Given the description of an element on the screen output the (x, y) to click on. 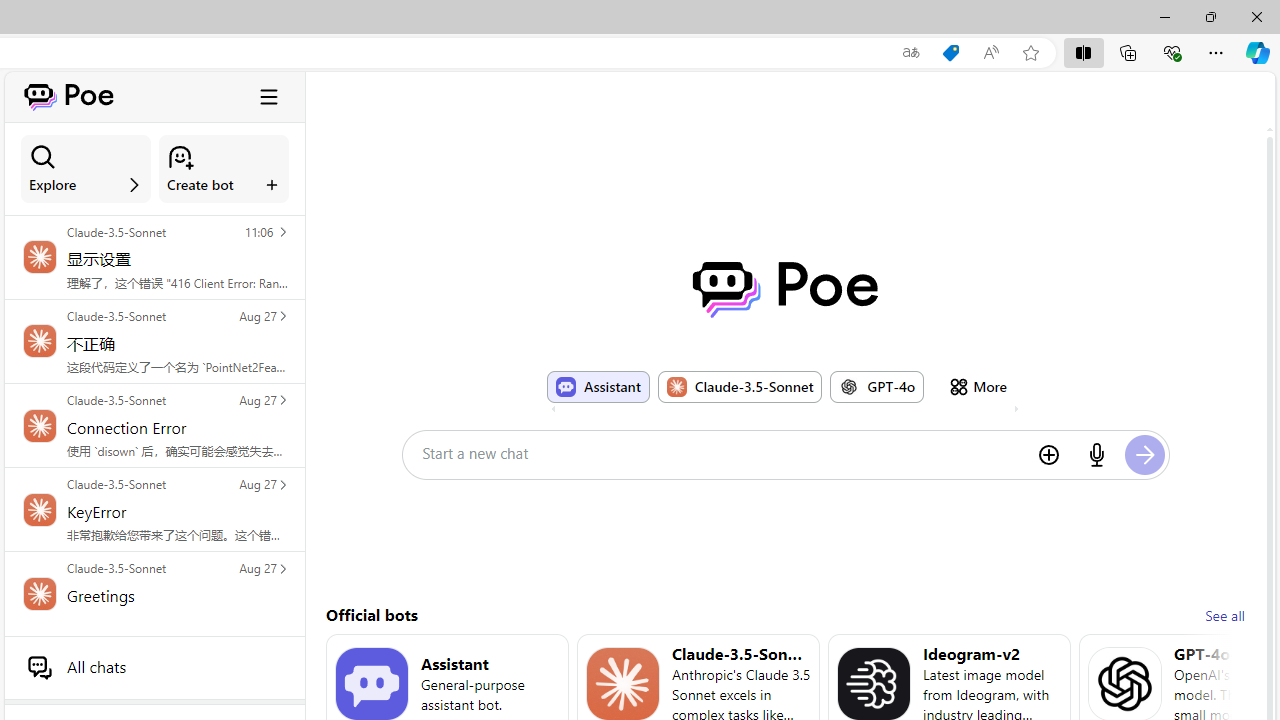
Create bot (223, 169)
Explore (85, 169)
Poe (785, 289)
Bot image for Assistant (371, 683)
Bot image for Ideogram-v2 (874, 683)
Bot image for Assistant Assistant (598, 386)
Class: ManageBotsCardSection_labelIcon__EjW_j (271, 183)
Bot image for Claude-3.5-Sonnet Claude-3.5-Sonnet (739, 386)
Class: ToggleSidebarCollapseButton_hamburgerIcon__VuiyV (269, 96)
